Given the description of an element on the screen output the (x, y) to click on. 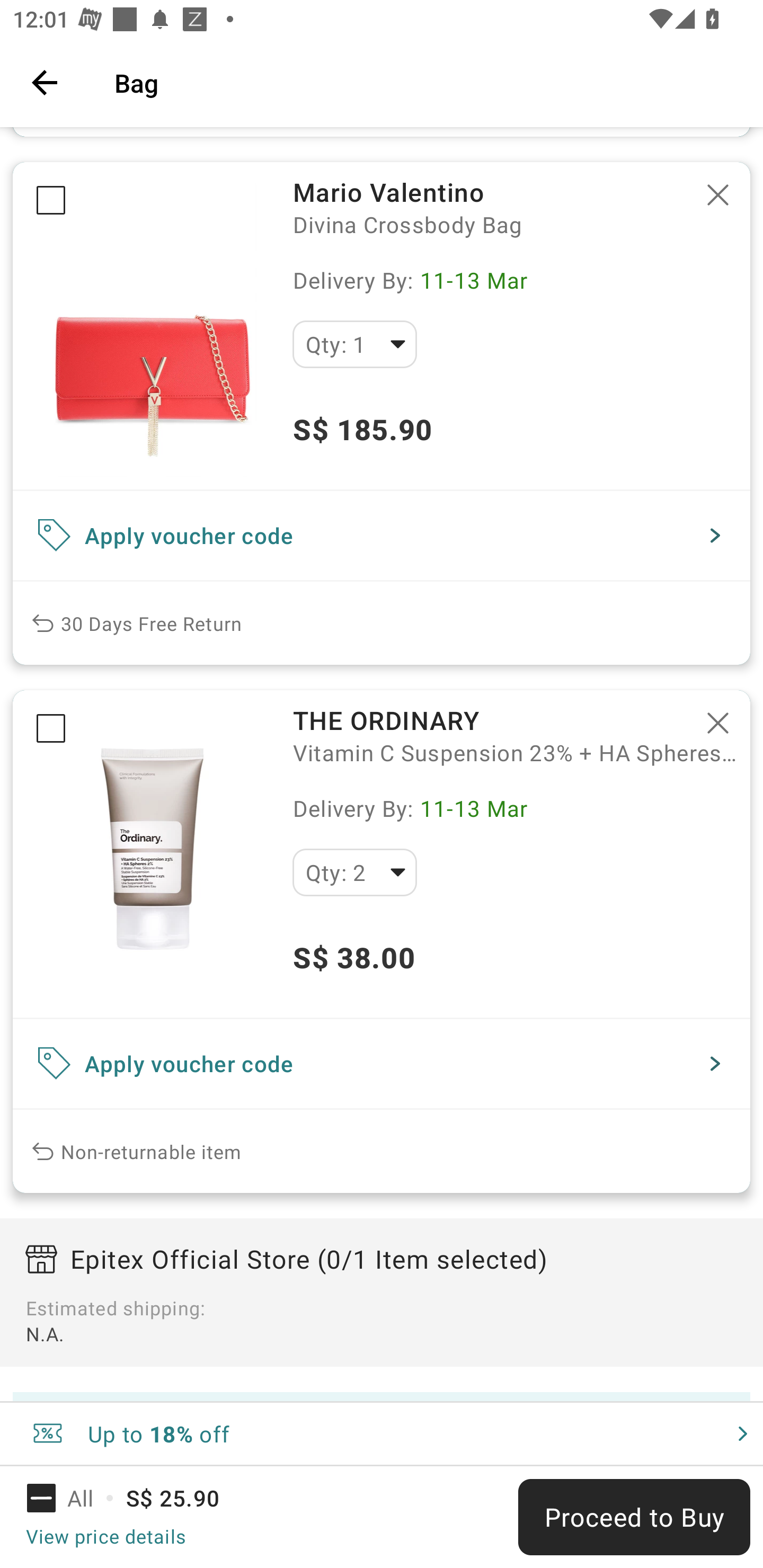
Navigate up (44, 82)
Bag (426, 82)
Qty: 1 (354, 343)
Apply voucher code (381, 535)
Qty: 2 (354, 872)
Apply voucher code (381, 1063)
Up to 18% off (381, 1433)
All (72, 1497)
Proceed to Buy (634, 1516)
View price details (105, 1535)
